Given the description of an element on the screen output the (x, y) to click on. 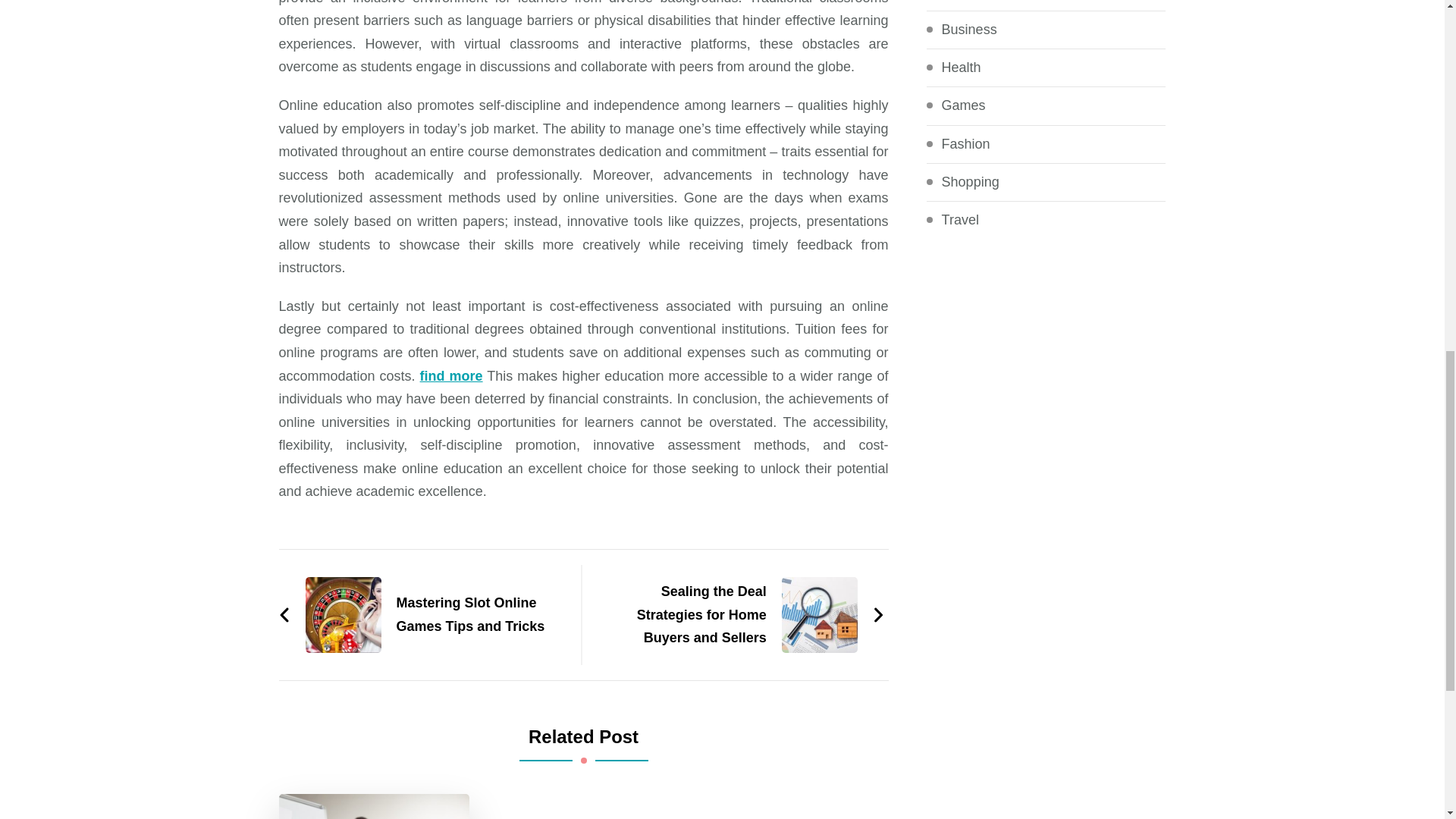
Sealing the Deal Strategies for Home Buyers and Sellers (740, 614)
find more (451, 376)
Mastering Slot Online Games Tips and Tricks (421, 614)
